Given the description of an element on the screen output the (x, y) to click on. 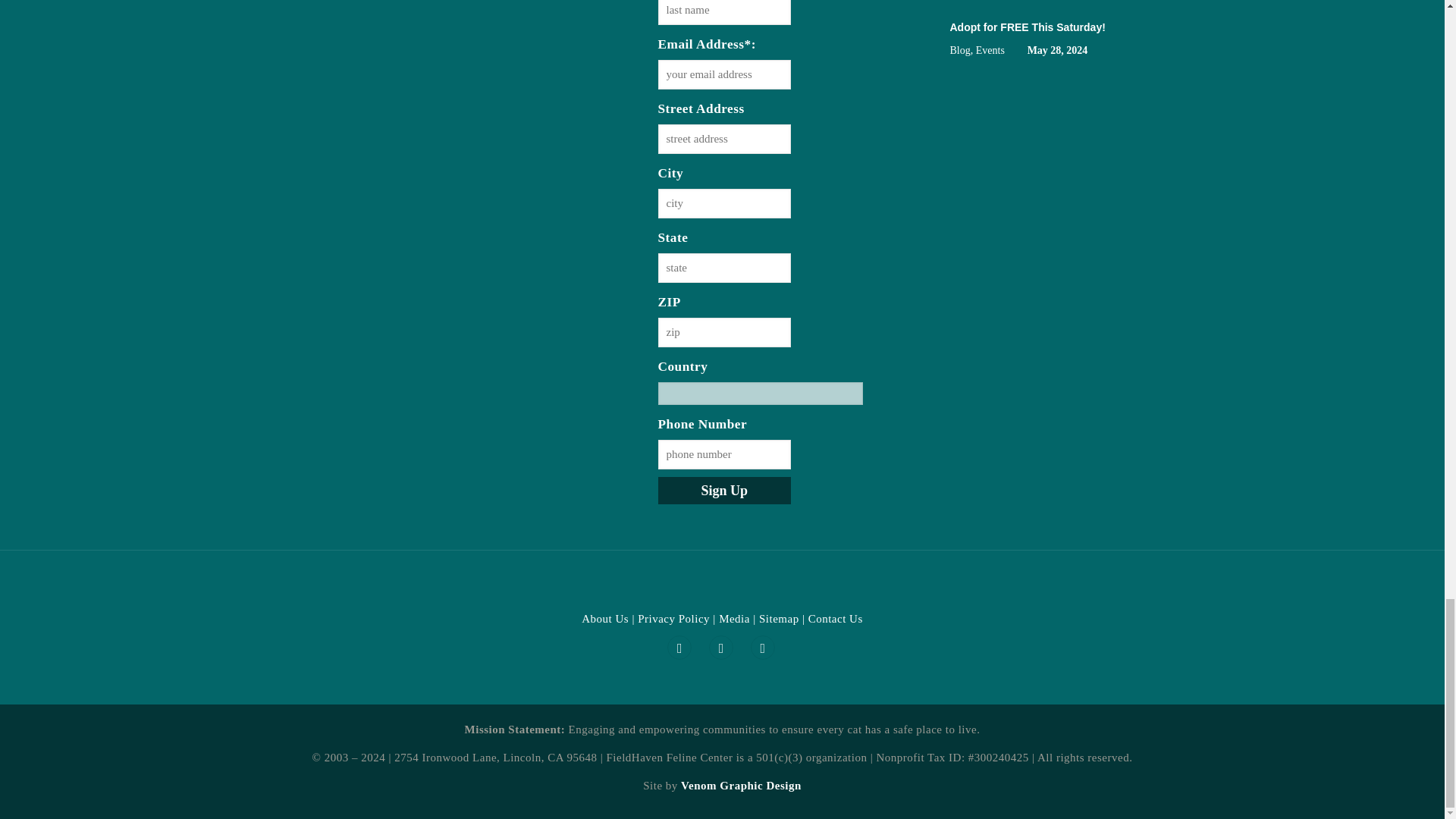
Sign up (725, 490)
